Given the description of an element on the screen output the (x, y) to click on. 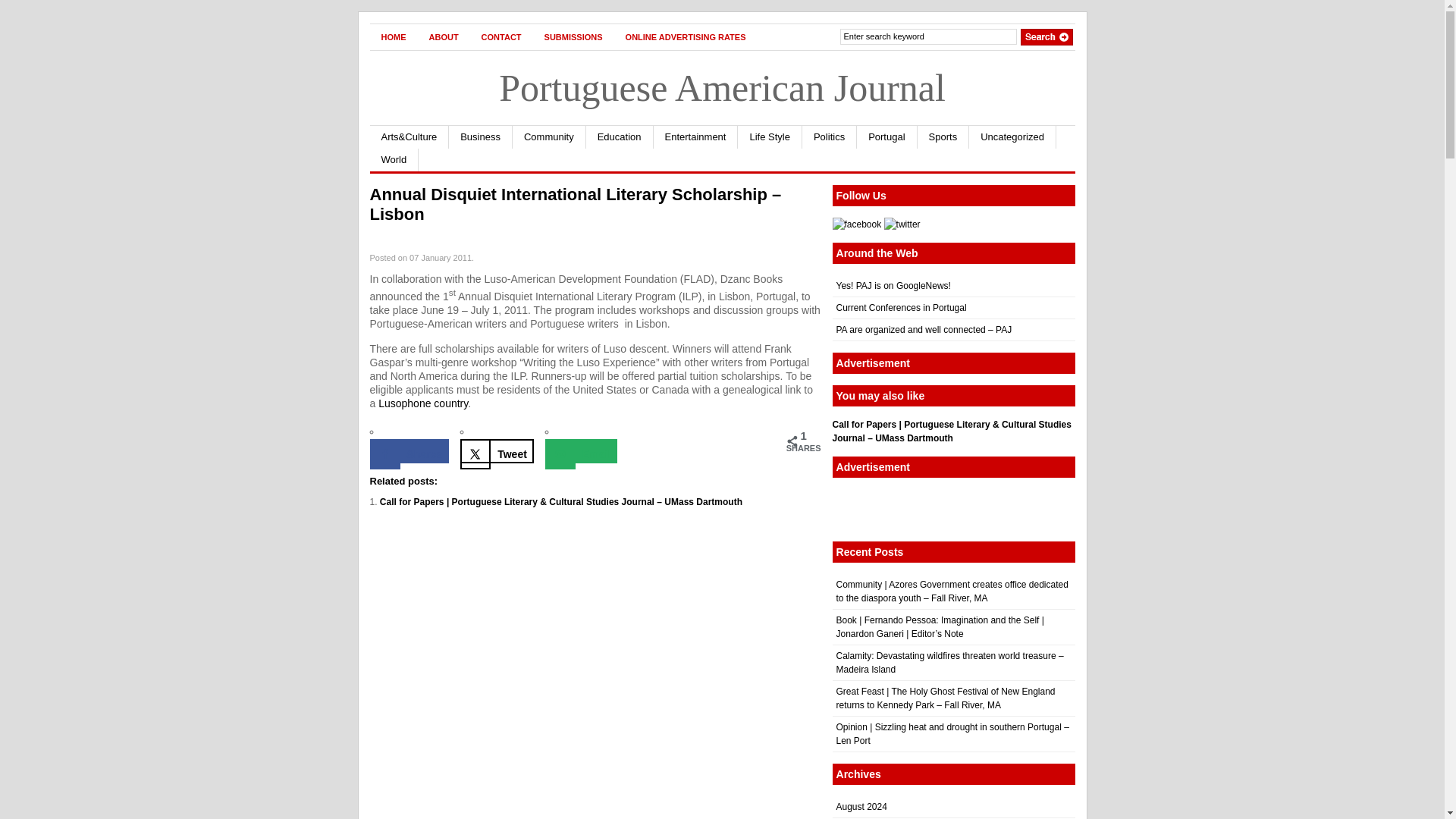
Education (619, 137)
Enter search keyword (928, 36)
Go (1046, 36)
CONTACT (501, 36)
HOME (393, 36)
Share on X (497, 450)
Share on Facebook (409, 450)
Portugal (887, 137)
ABOUT (442, 36)
Business (480, 137)
